Given the description of an element on the screen output the (x, y) to click on. 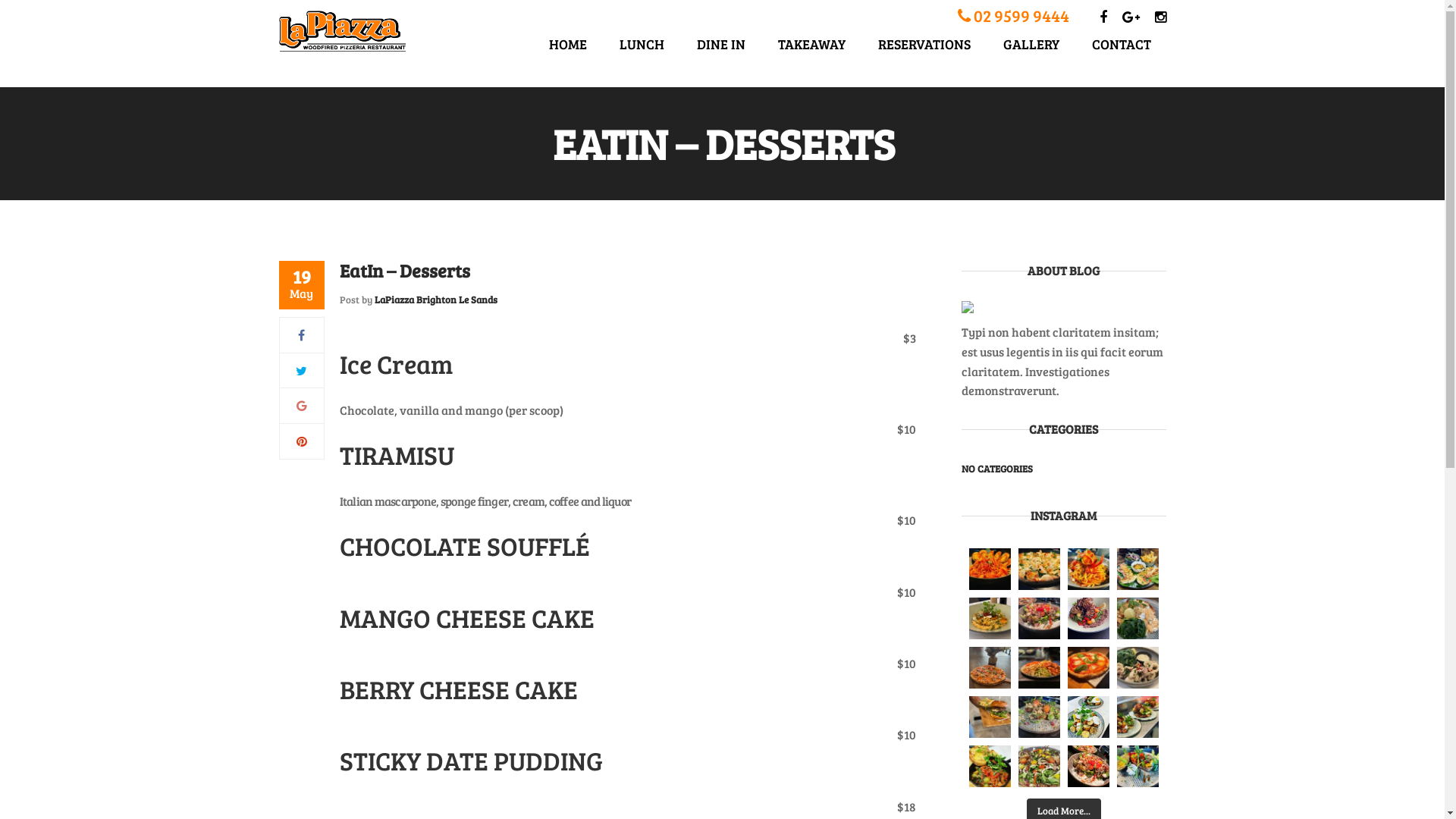
02 9599 9444 Element type: text (320, 76)
LUNCH Element type: text (640, 43)
Twitter Element type: hover (301, 370)
Google Plus Element type: hover (300, 405)
LaPiazza Brighton Le Sands Element type: text (435, 299)
TAKEAWAY Element type: text (811, 43)
Facebook Element type: hover (301, 334)
GALLERY Element type: text (1030, 43)
DINE IN Element type: text (719, 43)
HOME Element type: text (567, 43)
RESERVATIONS Element type: text (923, 43)
CONTACT Element type: text (1121, 43)
Pinterest Element type: hover (300, 440)
